Given the description of an element on the screen output the (x, y) to click on. 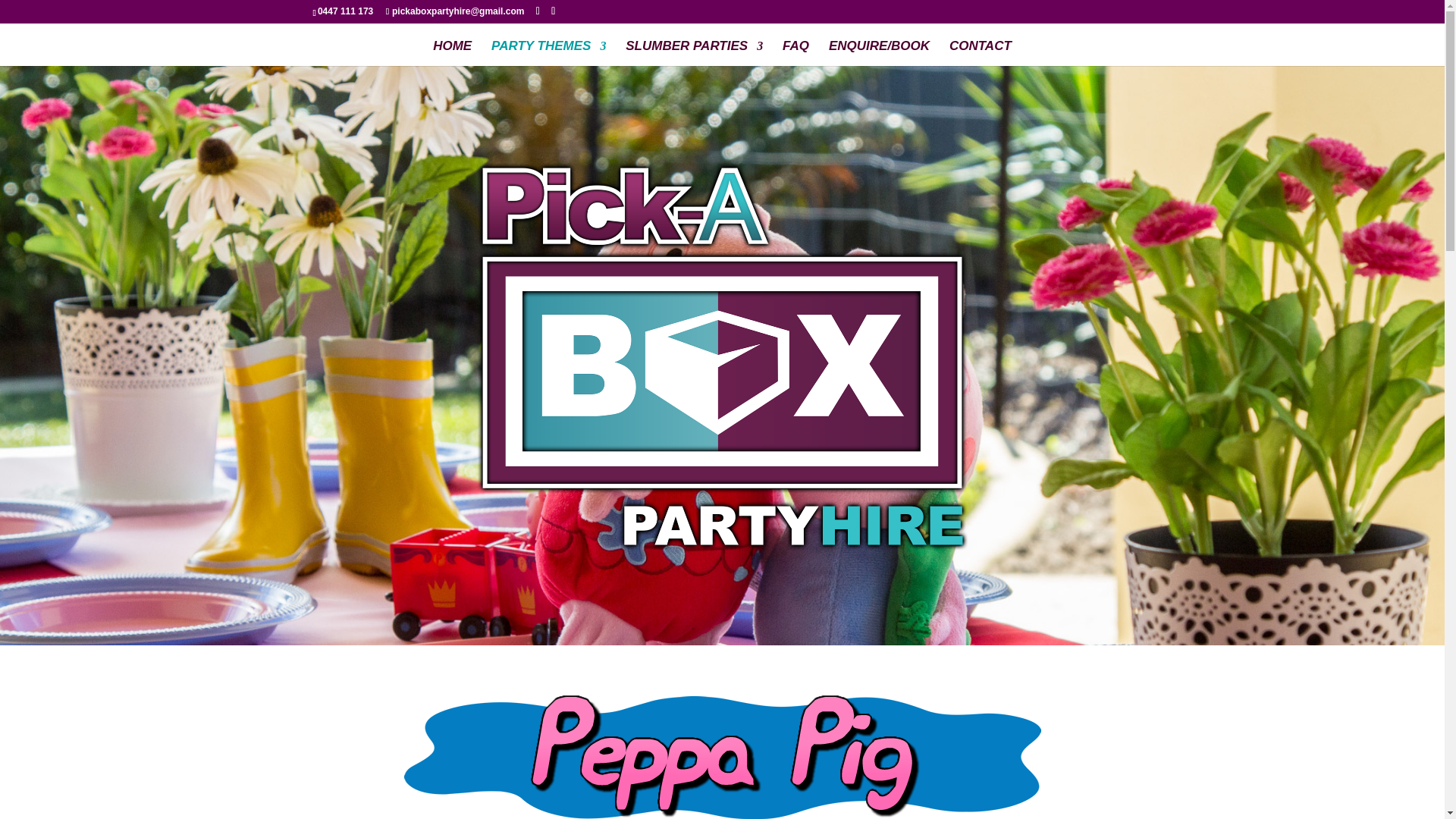
SLUMBER PARTIES (694, 53)
HOME (451, 53)
CONTACT (980, 53)
PARTY THEMES (548, 53)
FAQ (796, 53)
